Given the description of an element on the screen output the (x, y) to click on. 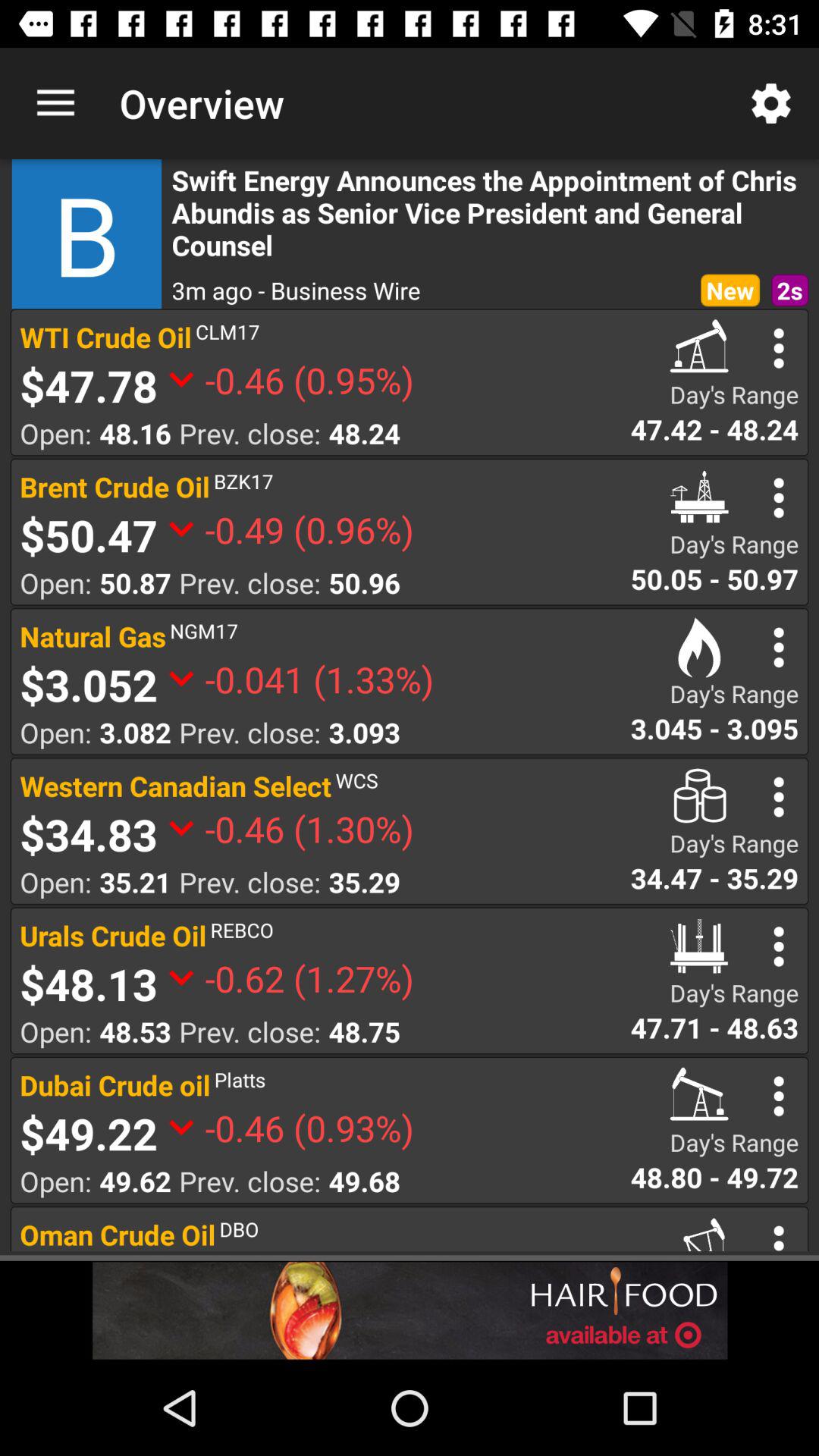
view options (778, 946)
